Given the description of an element on the screen output the (x, y) to click on. 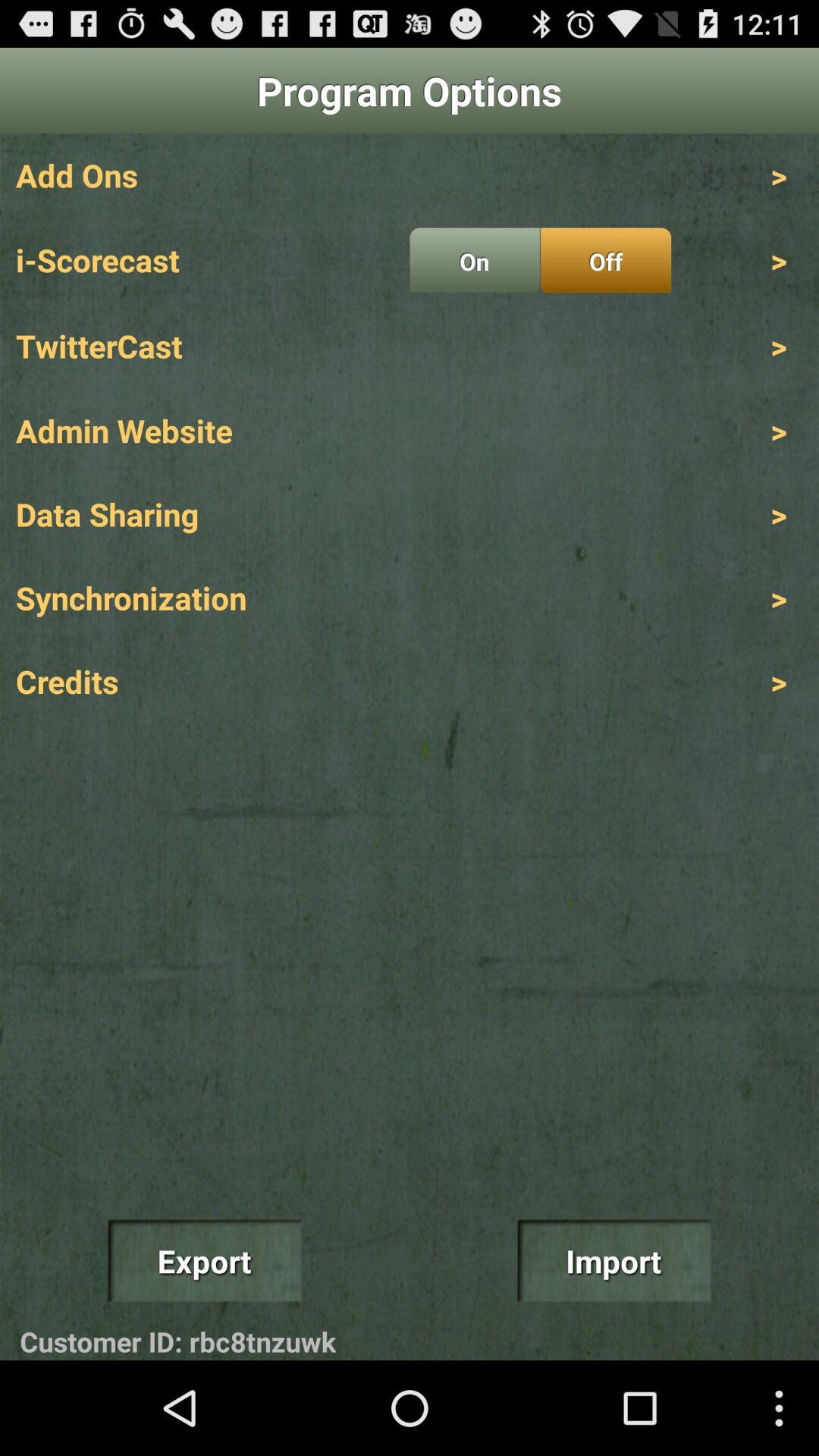
tap item next to the off radio button (474, 259)
